Given the description of an element on the screen output the (x, y) to click on. 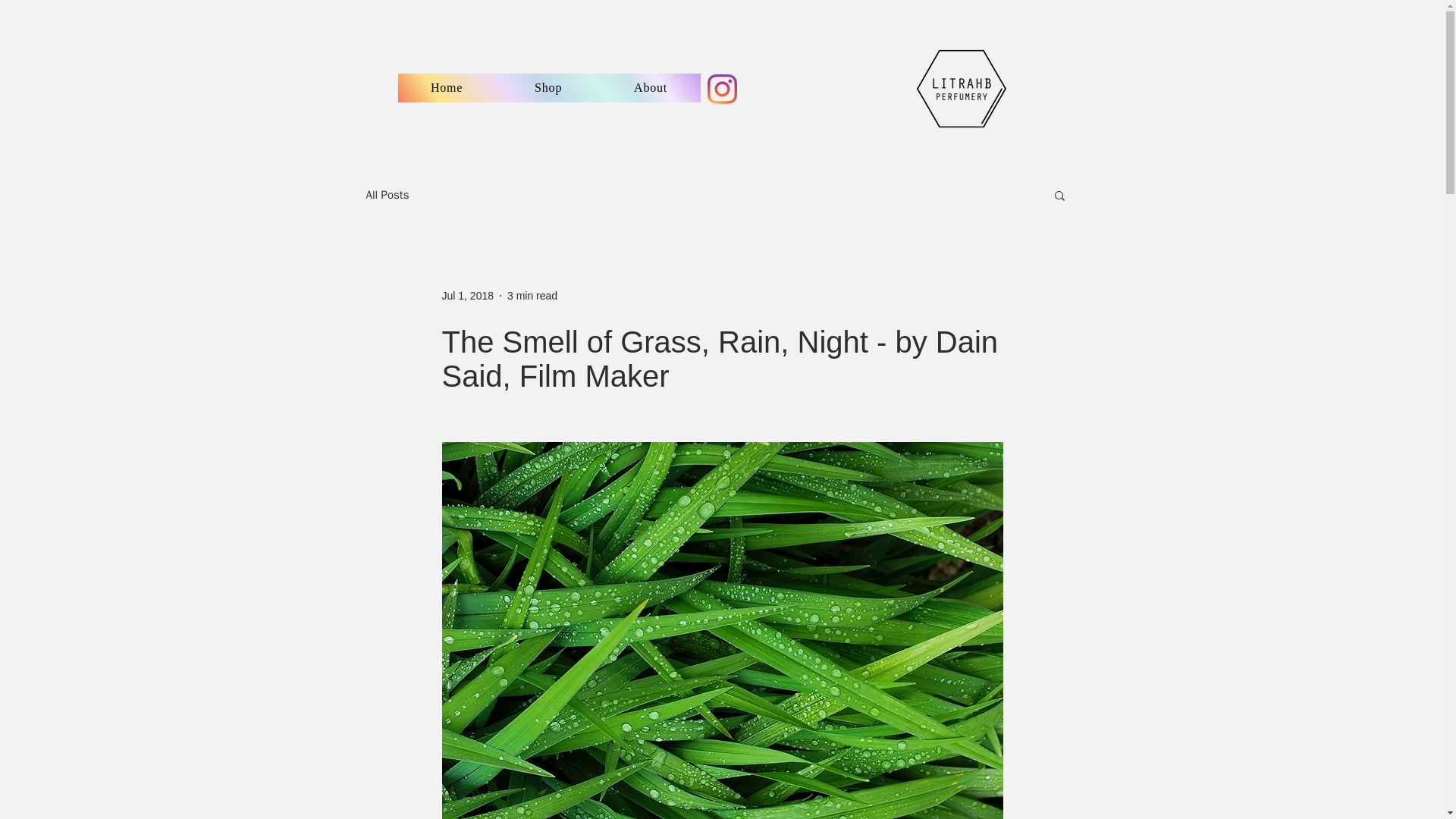
3 min read (531, 295)
About (650, 87)
All Posts (387, 195)
Shop (548, 87)
Home (446, 87)
Jul 1, 2018 (467, 295)
logo transparent.png (961, 88)
